Given the description of an element on the screen output the (x, y) to click on. 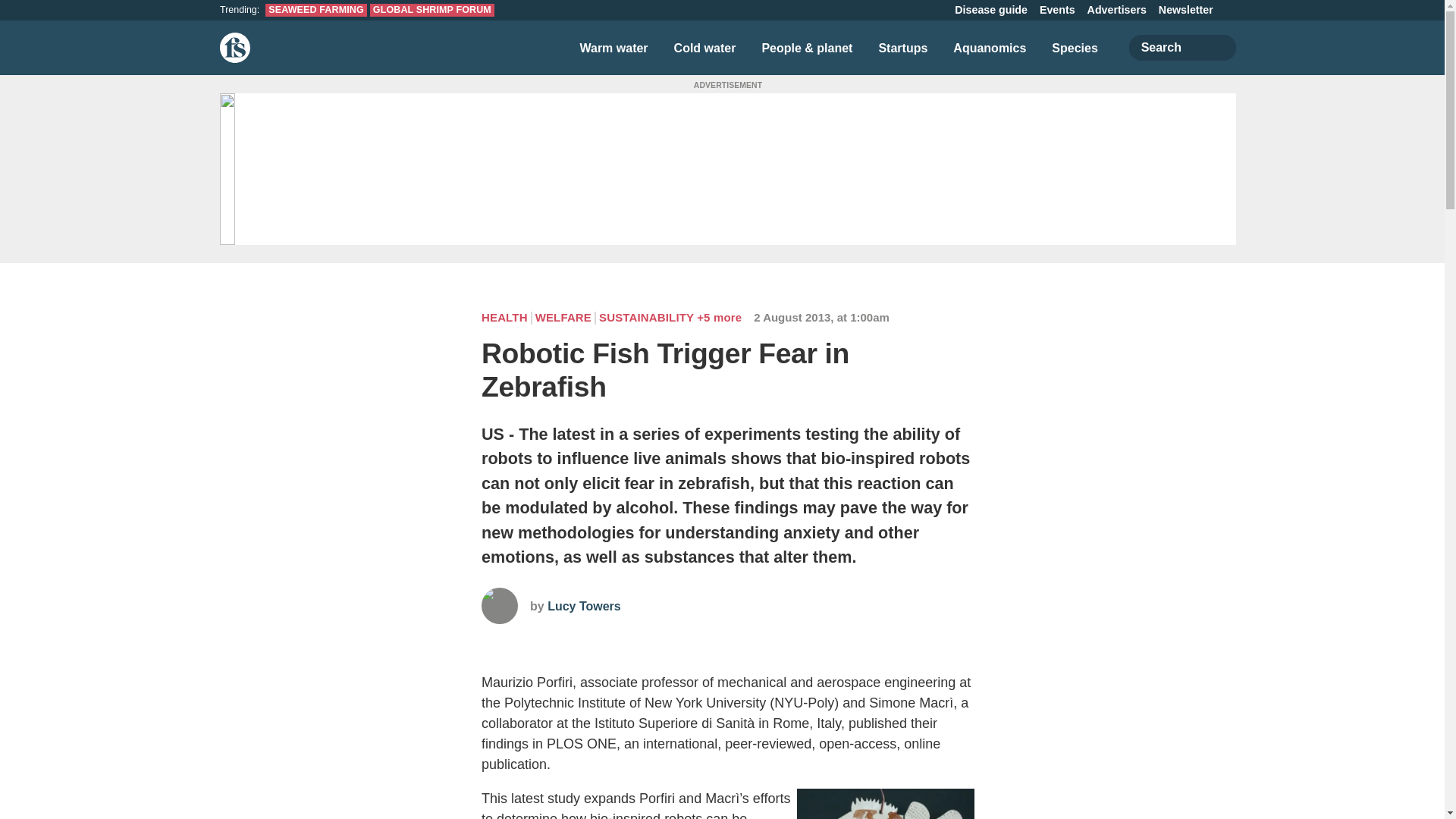
Instagram (914, 9)
LinkedIn (891, 9)
Return to The Fish Site homepage (234, 47)
YouTube (936, 9)
Startups (902, 47)
Advertisers (1117, 10)
Warm water (613, 47)
Twitter (845, 9)
Facebook (868, 9)
Cold water (705, 47)
